Given the description of an element on the screen output the (x, y) to click on. 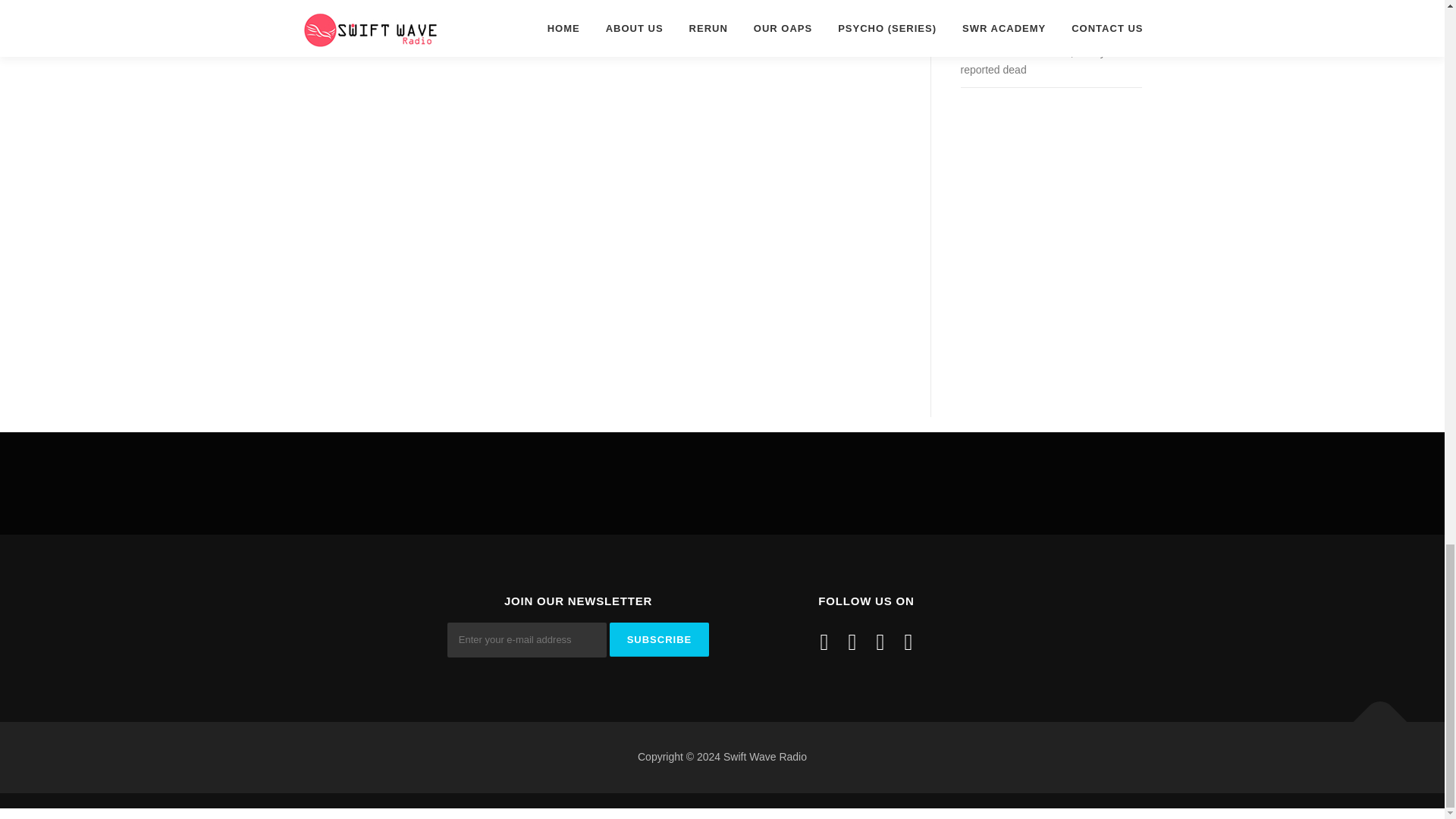
Subscribe (660, 639)
